Given the description of an element on the screen output the (x, y) to click on. 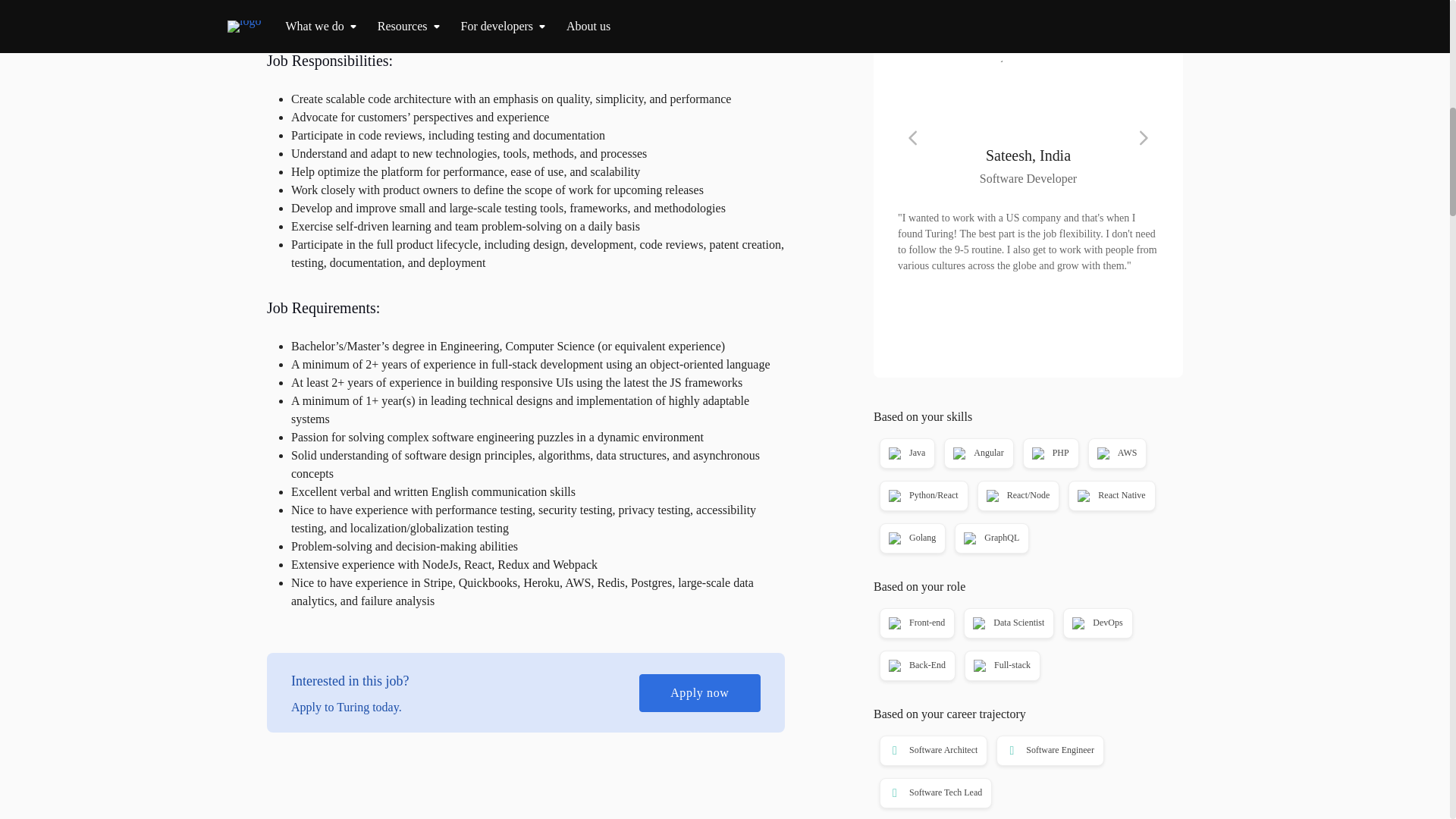
Apply now (1027, 4)
Apply now (699, 692)
Data Scientist (1007, 622)
GraphQL (990, 537)
Golang (911, 537)
Java (905, 453)
Full-stack (1000, 665)
Software Engineer (1048, 750)
Angular (976, 453)
Apply now (1027, 4)
